Given the description of an element on the screen output the (x, y) to click on. 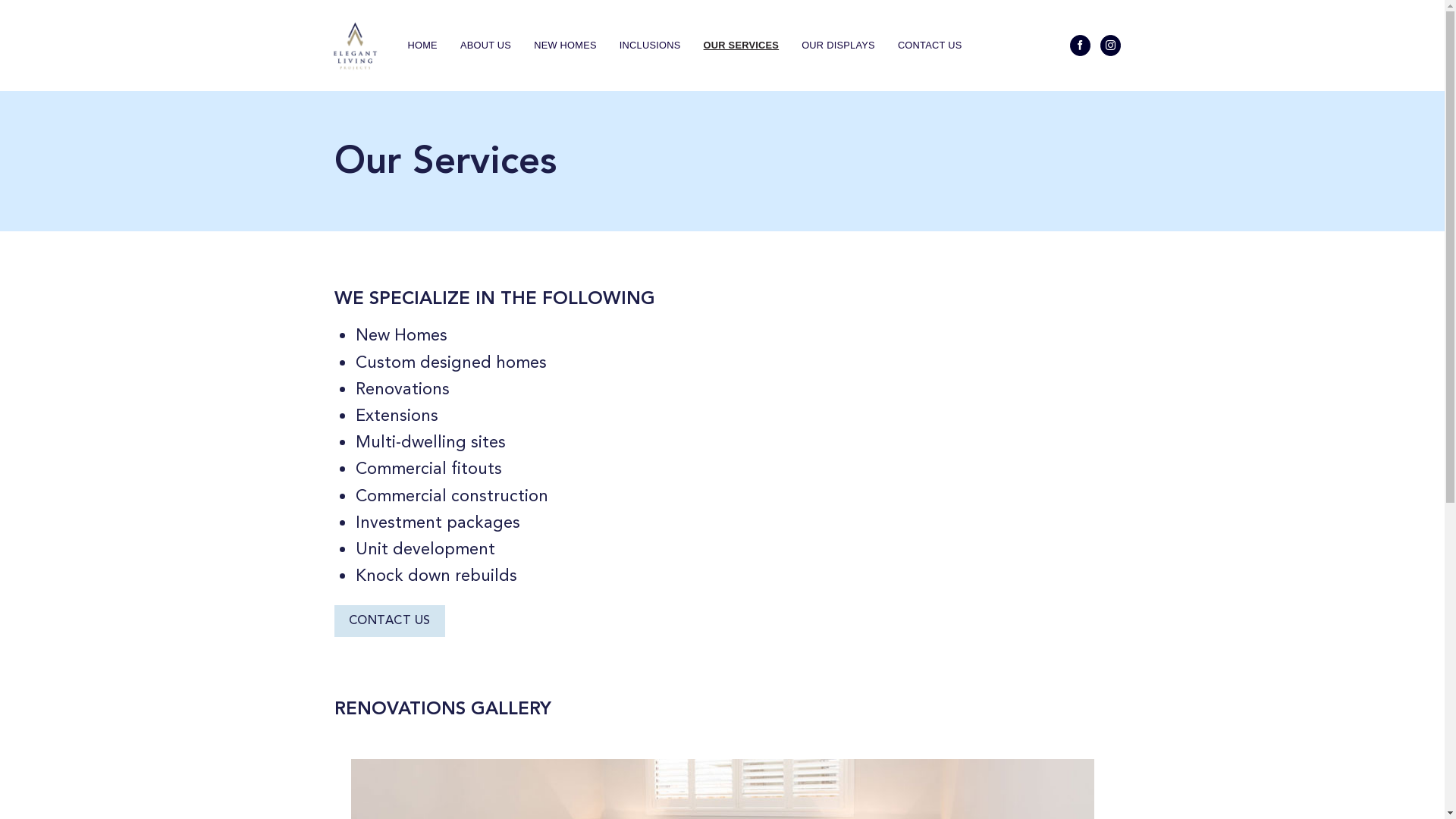
Elegant Living - Homes and Renovations Element type: hover (354, 45)
CONTACT US Element type: text (929, 45)
OUR DISPLAYS Element type: text (838, 45)
HOME Element type: text (422, 45)
NEW HOMES Element type: text (564, 45)
Skip to content Element type: text (0, 0)
INCLUSIONS Element type: text (649, 45)
ABOUT US Element type: text (485, 45)
OUR SERVICES Element type: text (741, 45)
CONTACT US Element type: text (388, 621)
